Given the description of an element on the screen output the (x, y) to click on. 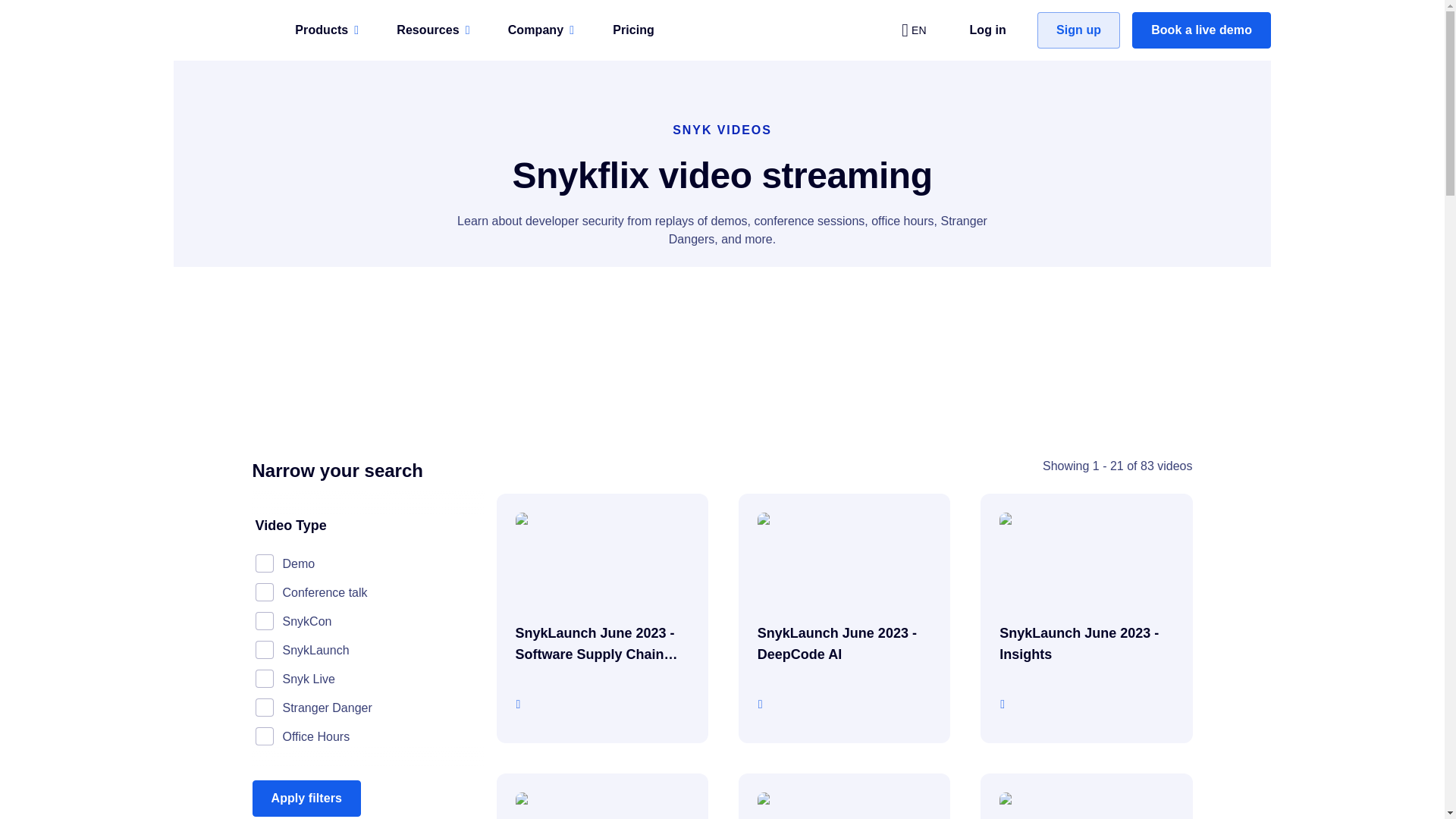
Sign up (1077, 30)
Sign up (1077, 30)
Select your language (913, 30)
Pricing (633, 29)
Book a live demo (1201, 30)
Log in (987, 30)
Log in (987, 30)
Apply filters (306, 798)
Book a live demo (1201, 30)
